Given the description of an element on the screen output the (x, y) to click on. 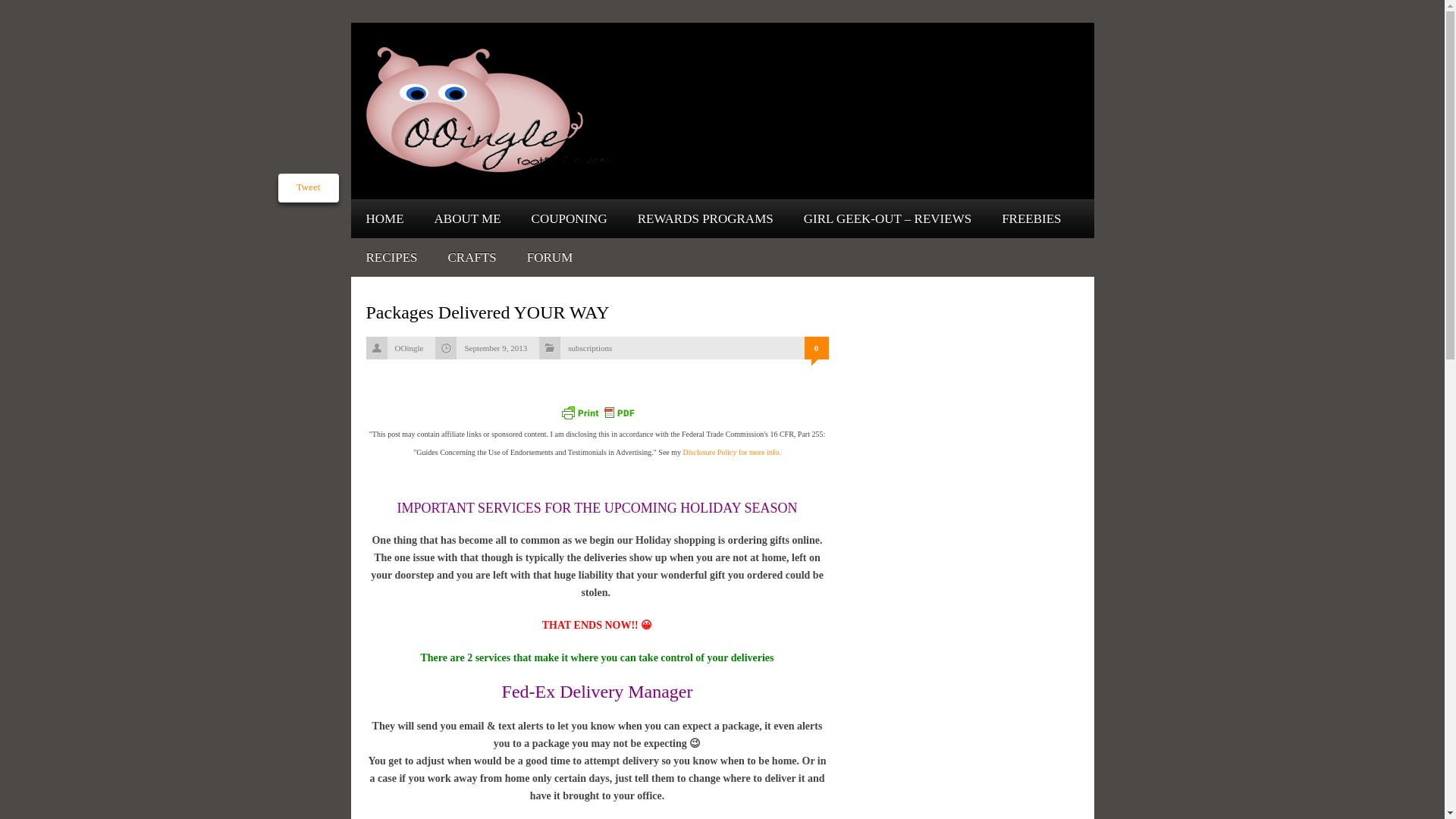
ABOUT ME (466, 218)
Home (384, 218)
Posts by OOingle (408, 347)
HOME (384, 218)
Disclosure Policy (731, 451)
REWARDS PROGRAMS (705, 218)
COUPONING (569, 218)
